Given the description of an element on the screen output the (x, y) to click on. 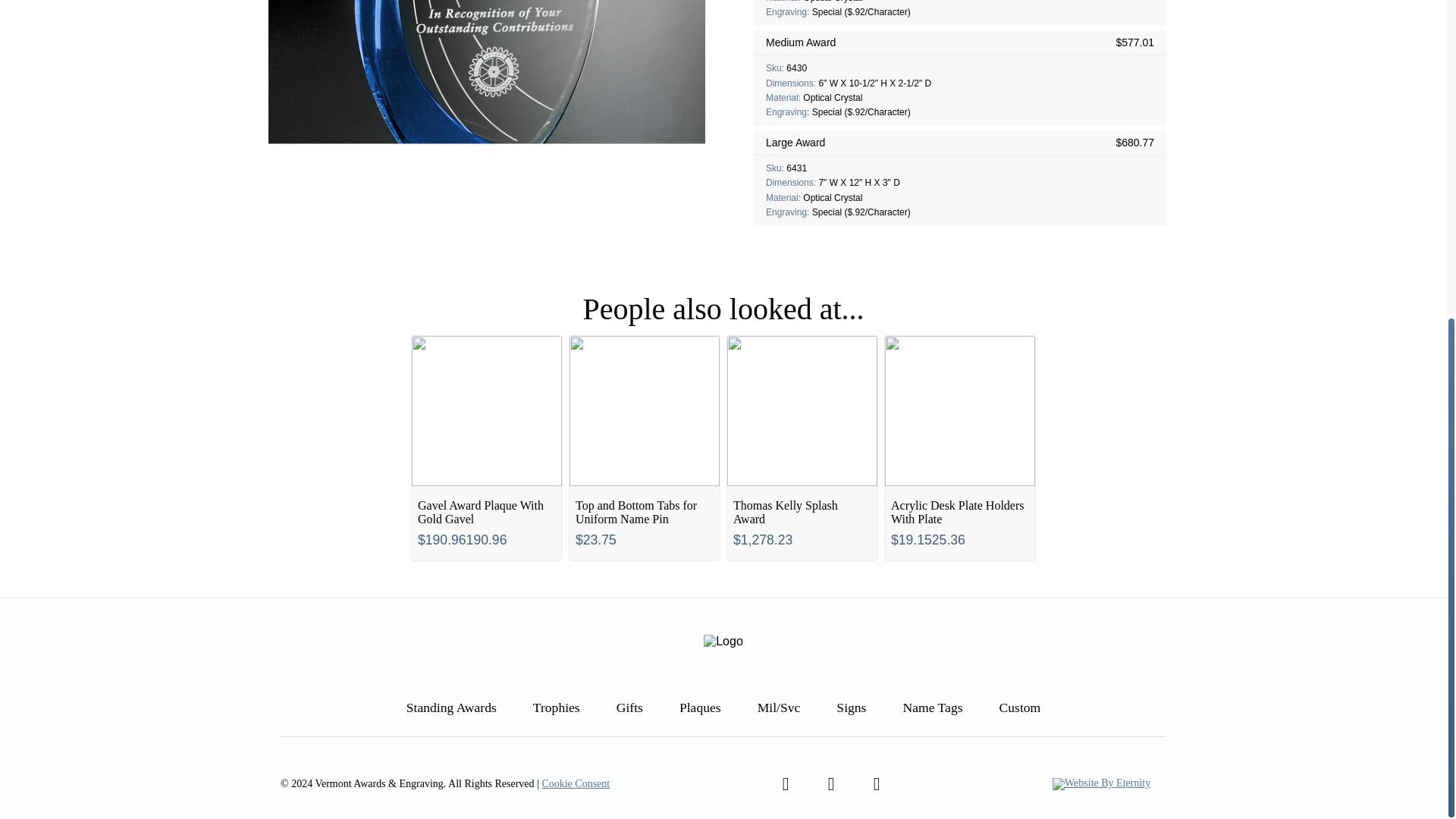
Follow us on Instagram (877, 783)
Follow us on Twitter (830, 783)
Find us on Facebook (785, 783)
